Given the description of an element on the screen output the (x, y) to click on. 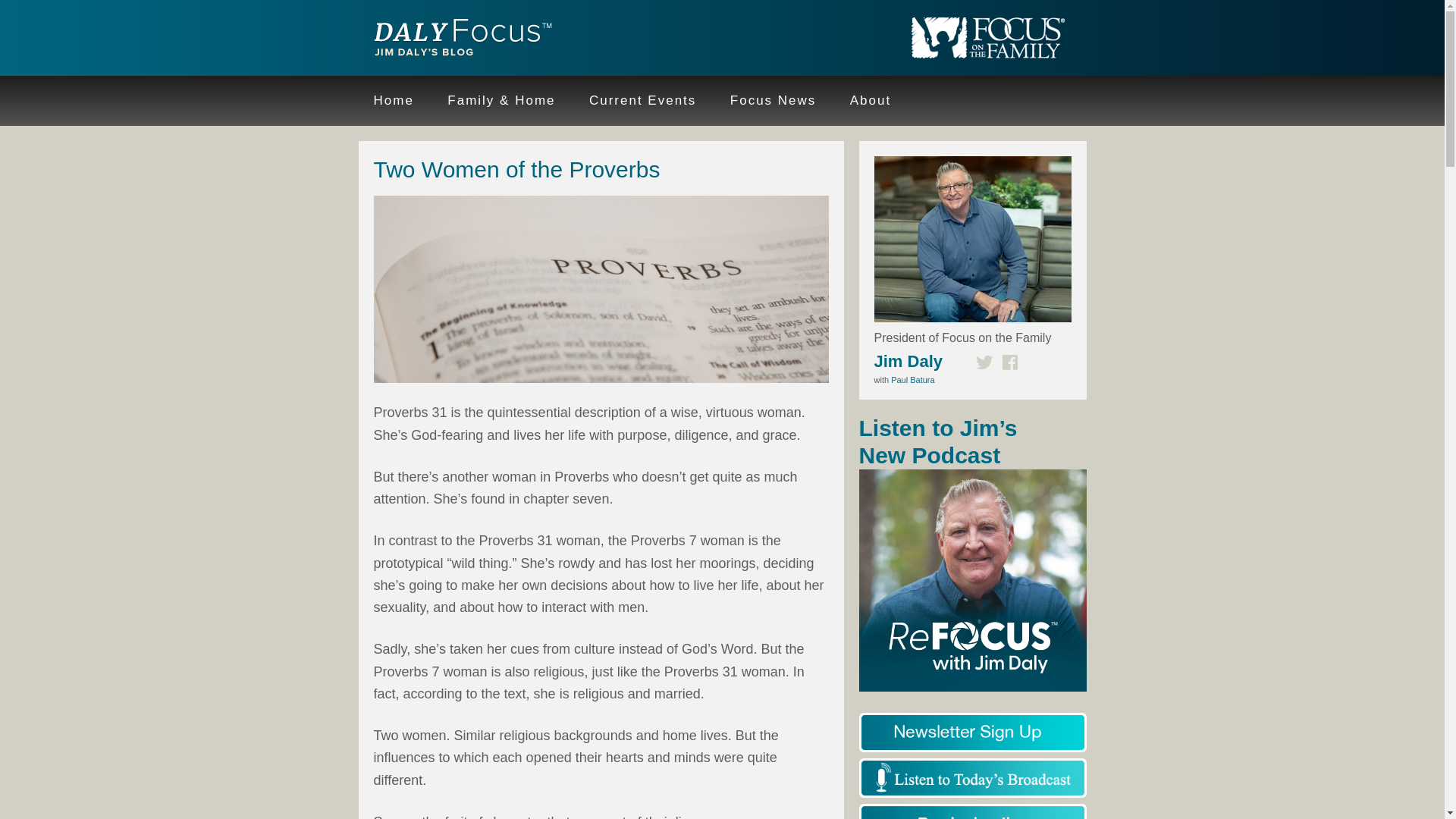
Jim Daly (907, 361)
Focus News (772, 101)
Home (393, 101)
Current Events (642, 101)
Paul Batura (912, 379)
Jim Daly (456, 39)
About (869, 101)
